Given the description of an element on the screen output the (x, y) to click on. 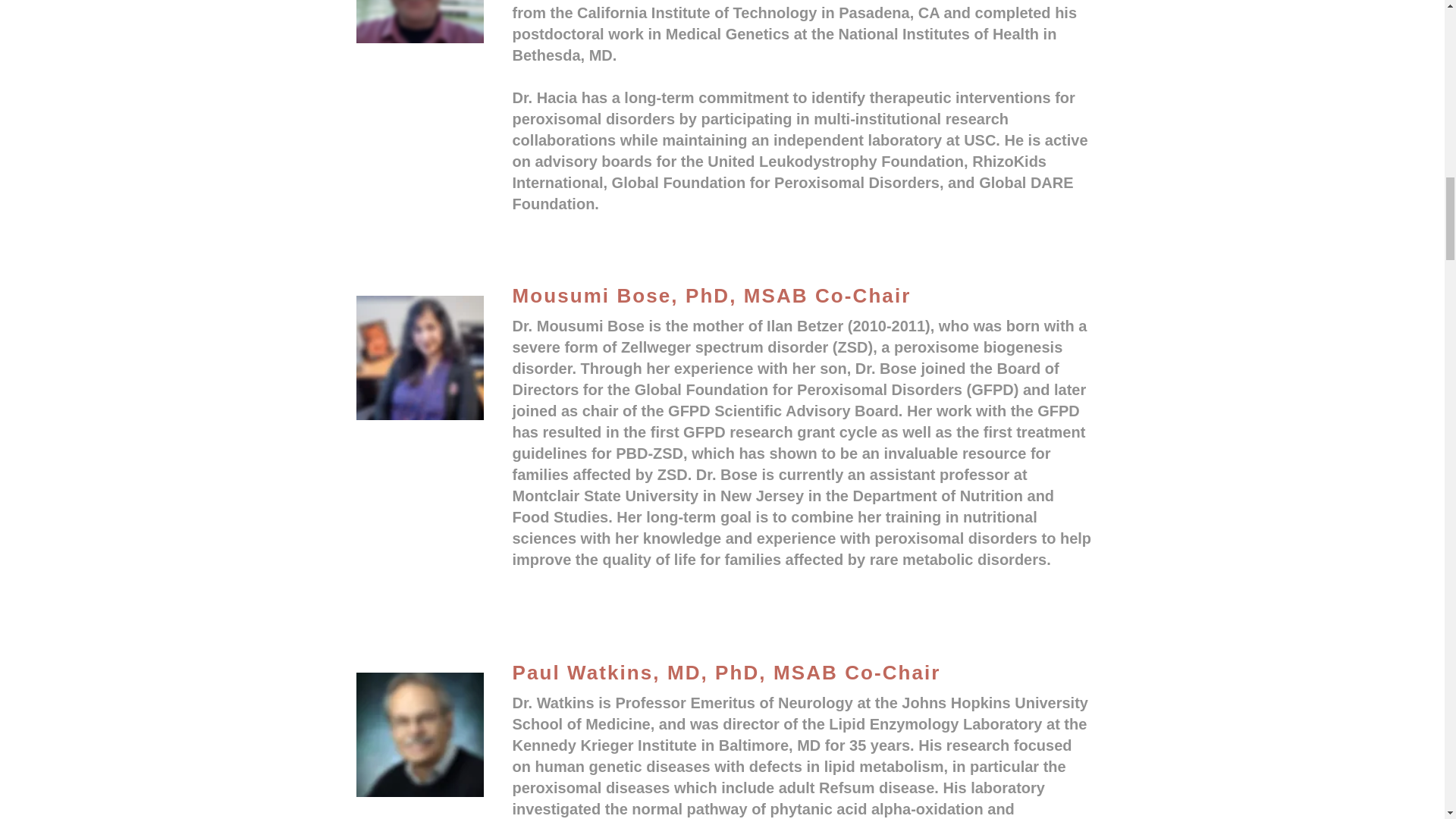
CEHS Mousumi Bose headshot 2018.jpg (419, 357)
